Given the description of an element on the screen output the (x, y) to click on. 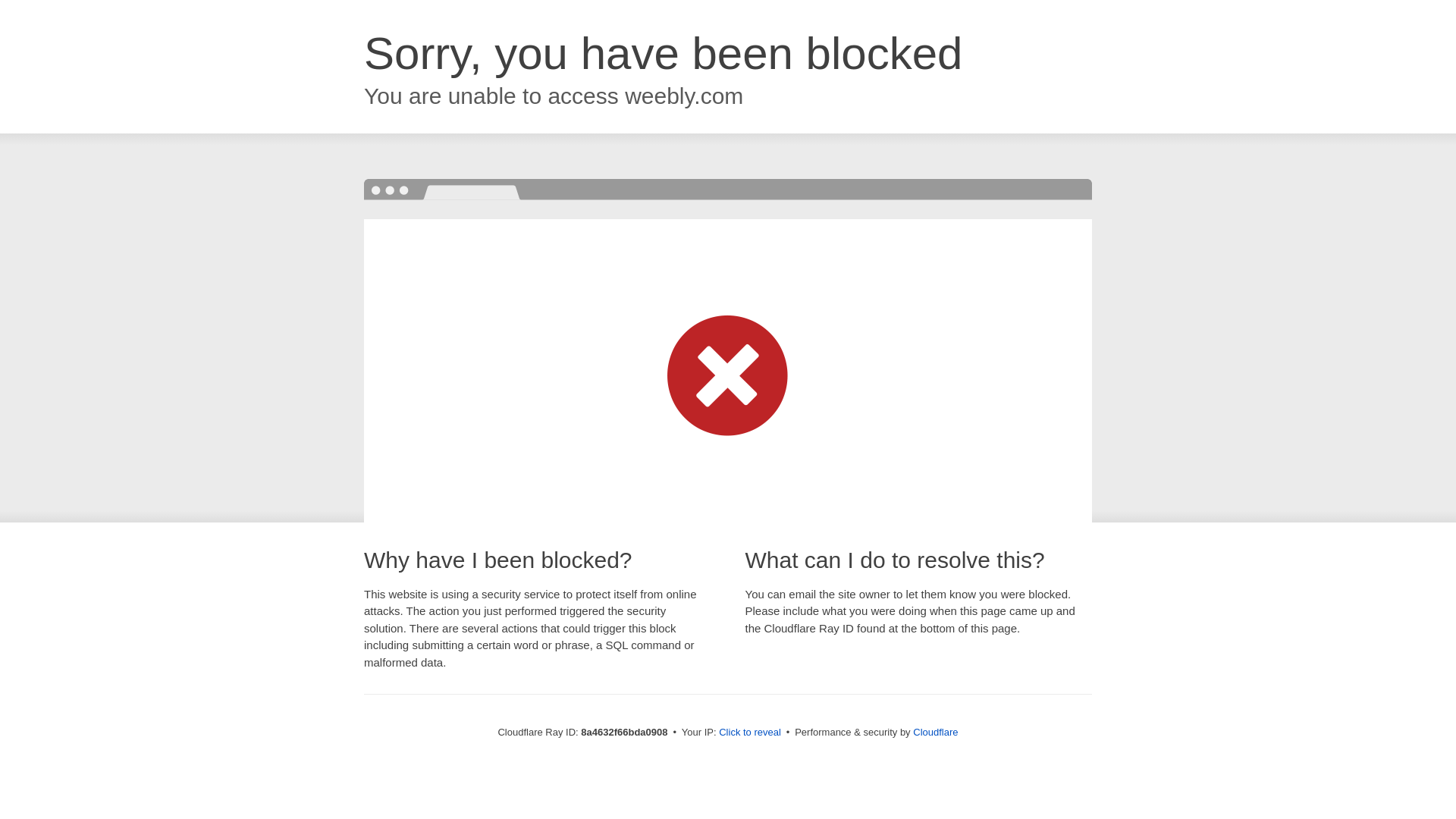
Click to reveal (749, 732)
Cloudflare (935, 731)
